Given the description of an element on the screen output the (x, y) to click on. 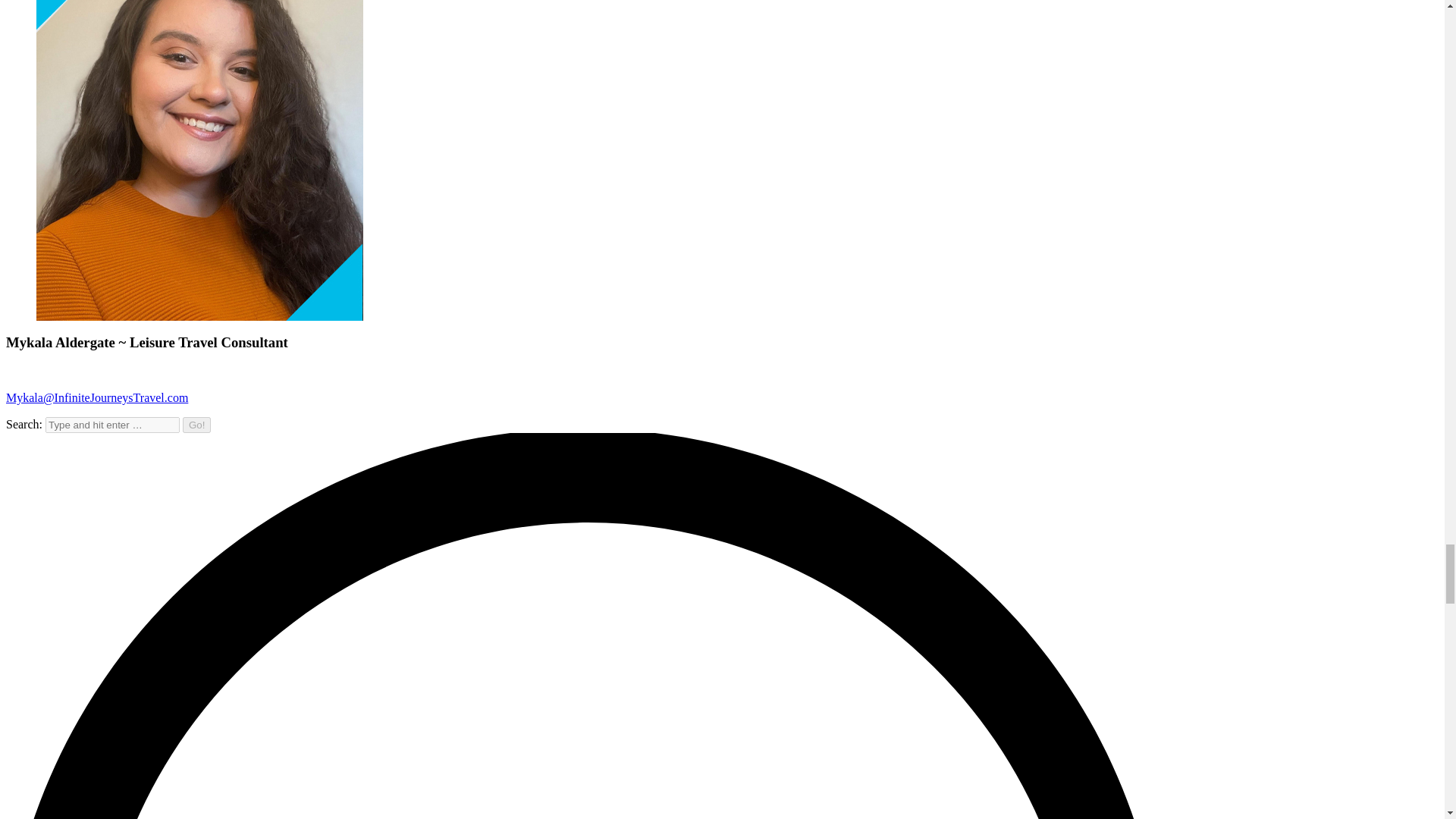
Go! (197, 424)
Go! (197, 424)
